Given the description of an element on the screen output the (x, y) to click on. 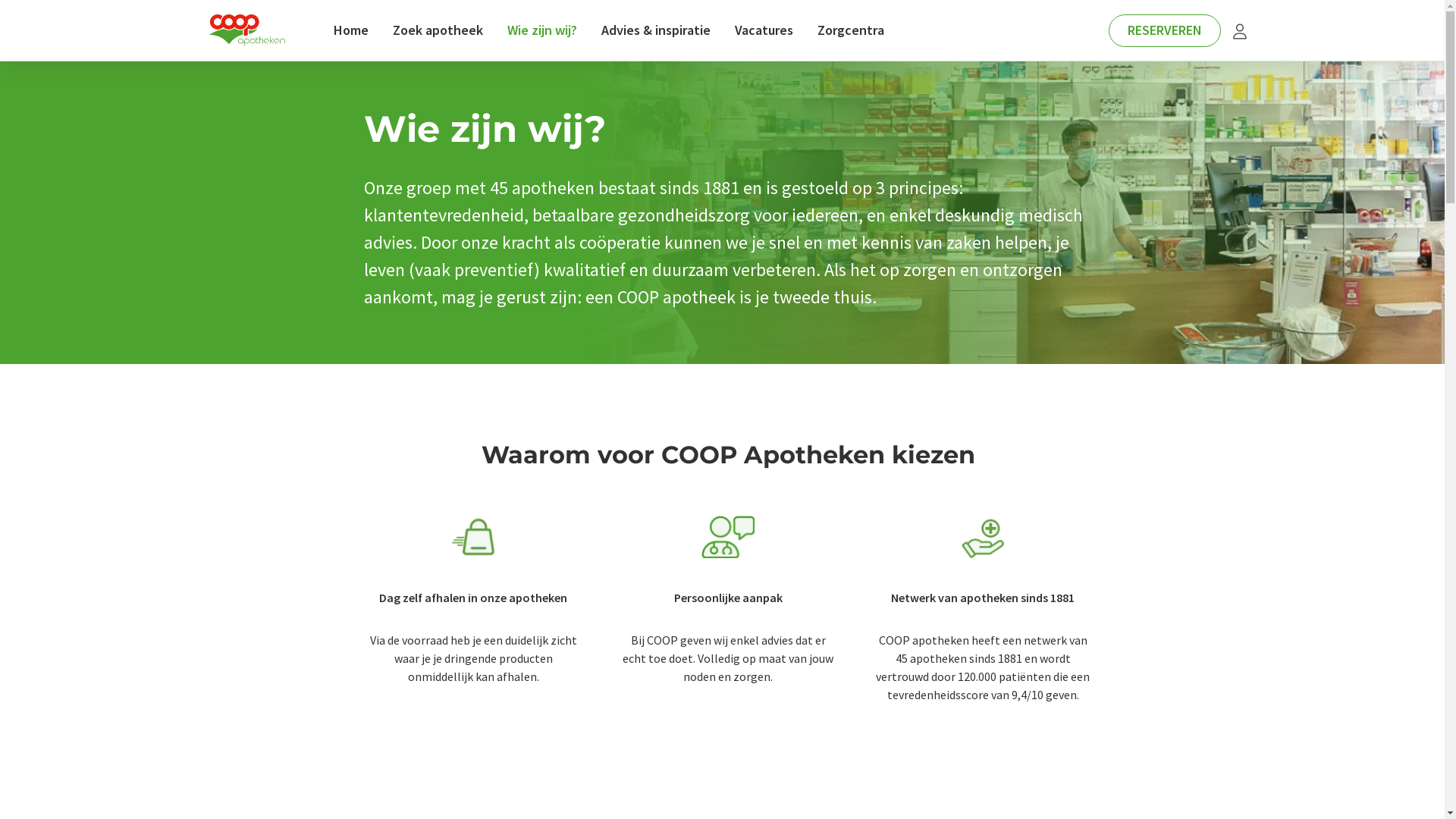
Home Element type: text (350, 30)
RESERVEREN Element type: text (1164, 29)
Advies & inspiratie Element type: text (655, 30)
Zoek apotheek Element type: text (437, 30)
Wie zijn wij? Element type: text (542, 30)
Zorgcentra Element type: text (850, 30)
Vacatures Element type: text (763, 30)
